Given the description of an element on the screen output the (x, y) to click on. 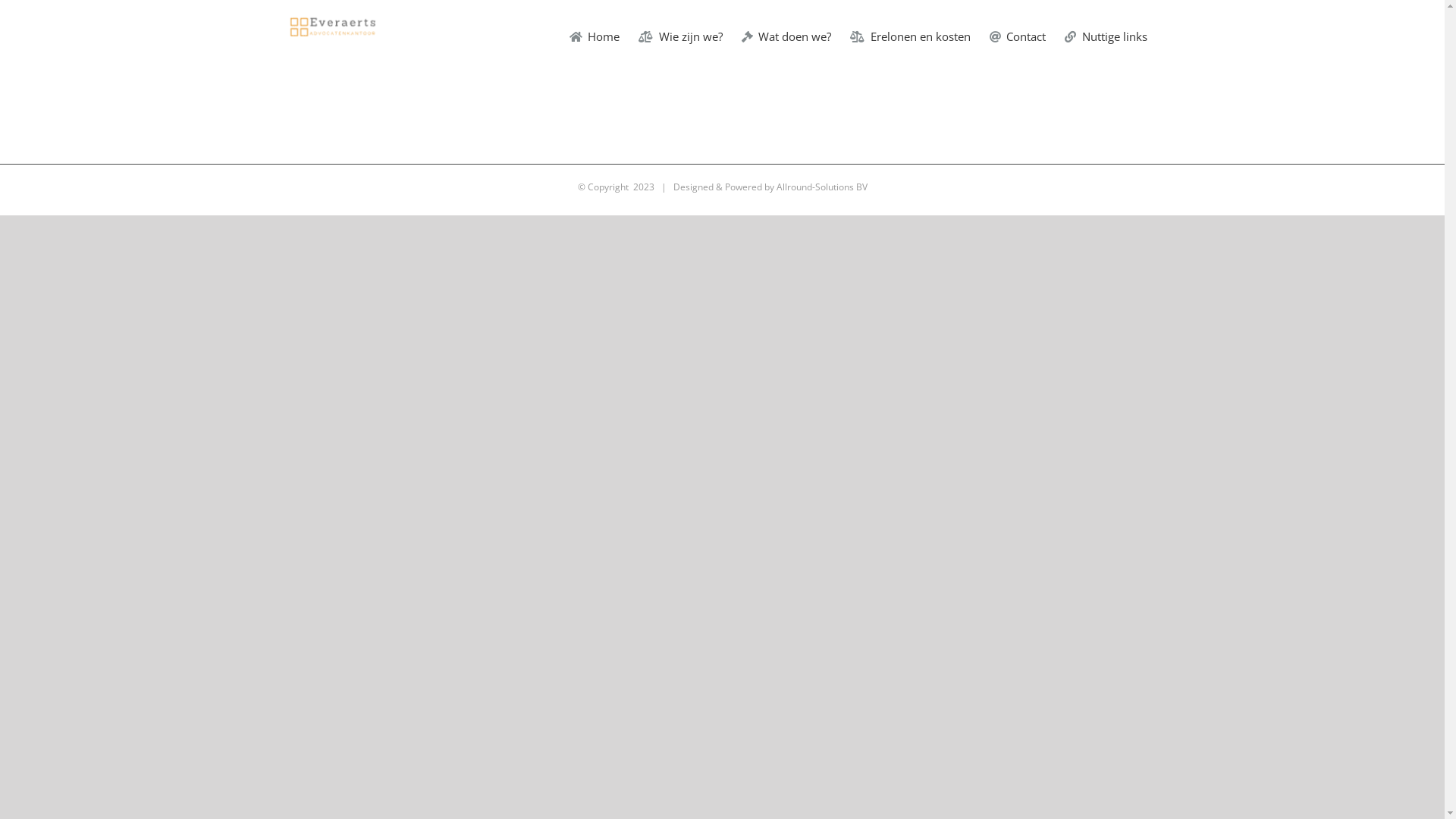
Contact Element type: text (1016, 36)
Erelonen en kosten Element type: text (910, 36)
Wie zijn we? Element type: text (680, 36)
Wat doen we? Element type: text (786, 36)
Allround-Solutions BV Element type: text (821, 186)
Nuttige links Element type: text (1105, 36)
Home Element type: text (593, 36)
